Given the description of an element on the screen output the (x, y) to click on. 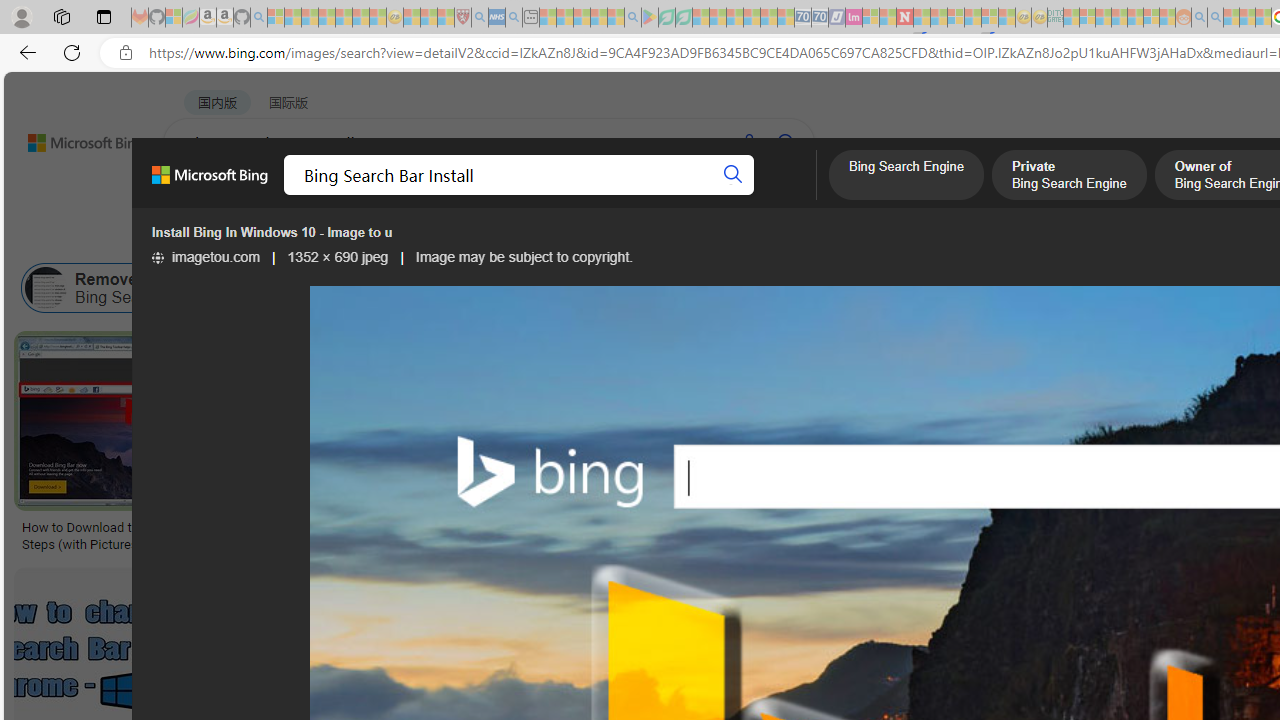
Class: item col (1034, 287)
Remove Bing Search Bar (116, 287)
Color (305, 237)
utah sues federal government - Search - Sleeping (513, 17)
MORE (793, 195)
People (521, 237)
ACADEMIC (635, 195)
